Given the description of an element on the screen output the (x, y) to click on. 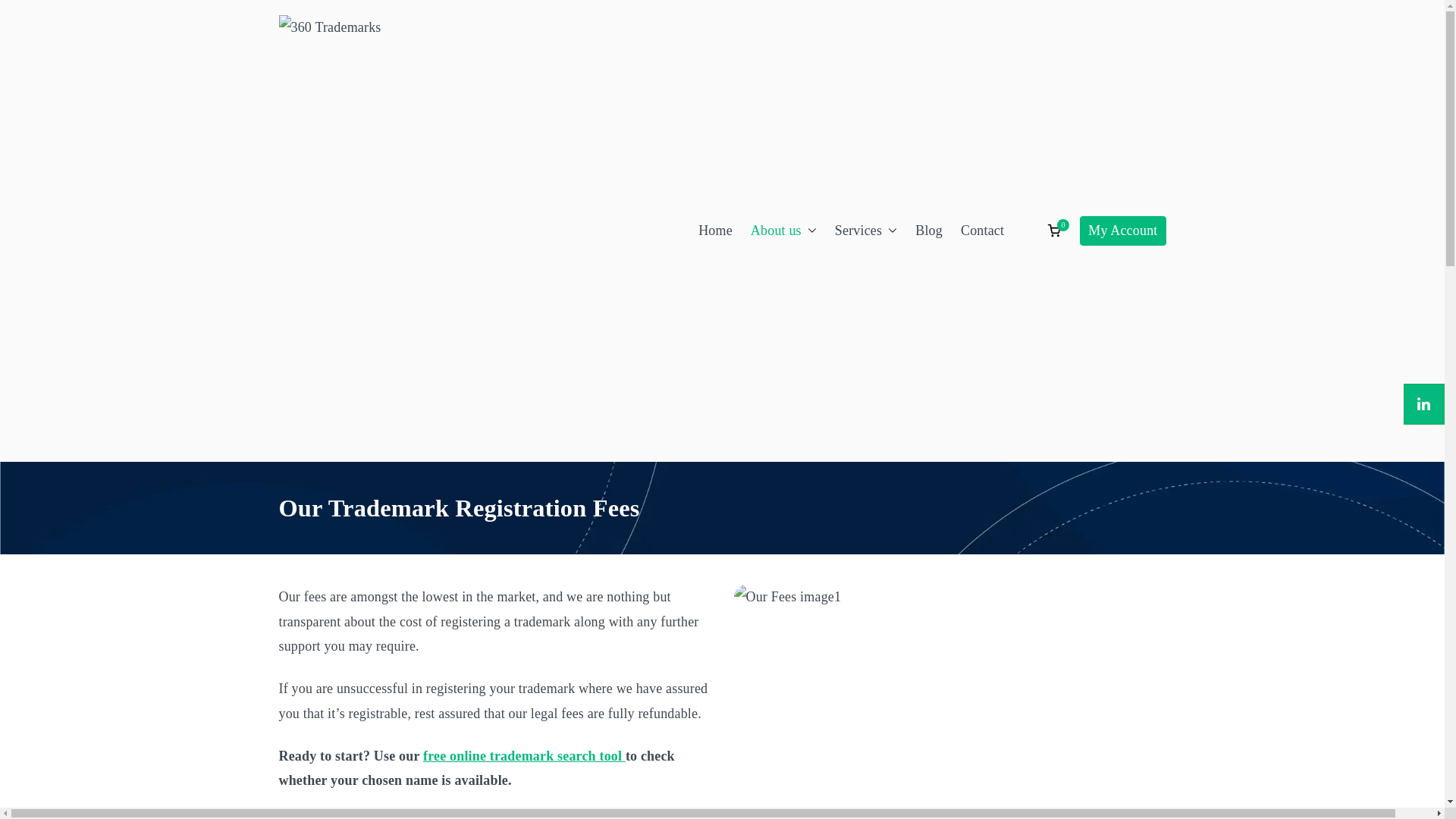
free online trademark search tool Element type: text (524, 755)
Contact Element type: text (982, 230)
Blog Element type: text (928, 230)
Search Element type: text (26, 14)
Services Element type: text (865, 230)
Home Element type: text (715, 230)
My Account Element type: text (1122, 230)
About us Element type: text (783, 230)
Linked in profile of 360 Trademarks Element type: hover (1423, 403)
0 Element type: text (1053, 230)
